Given the description of an element on the screen output the (x, y) to click on. 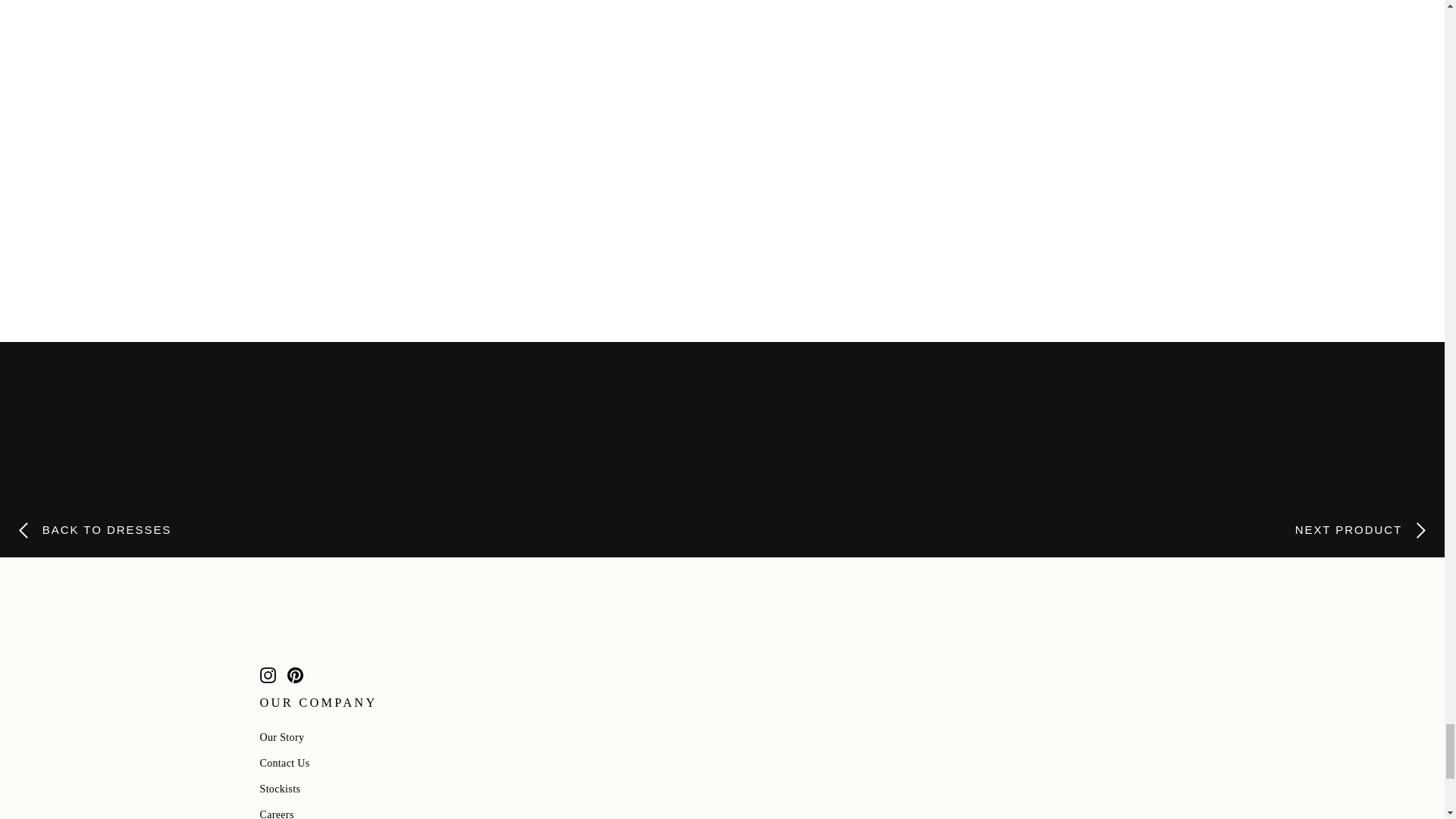
instagram (267, 675)
